Given the description of an element on the screen output the (x, y) to click on. 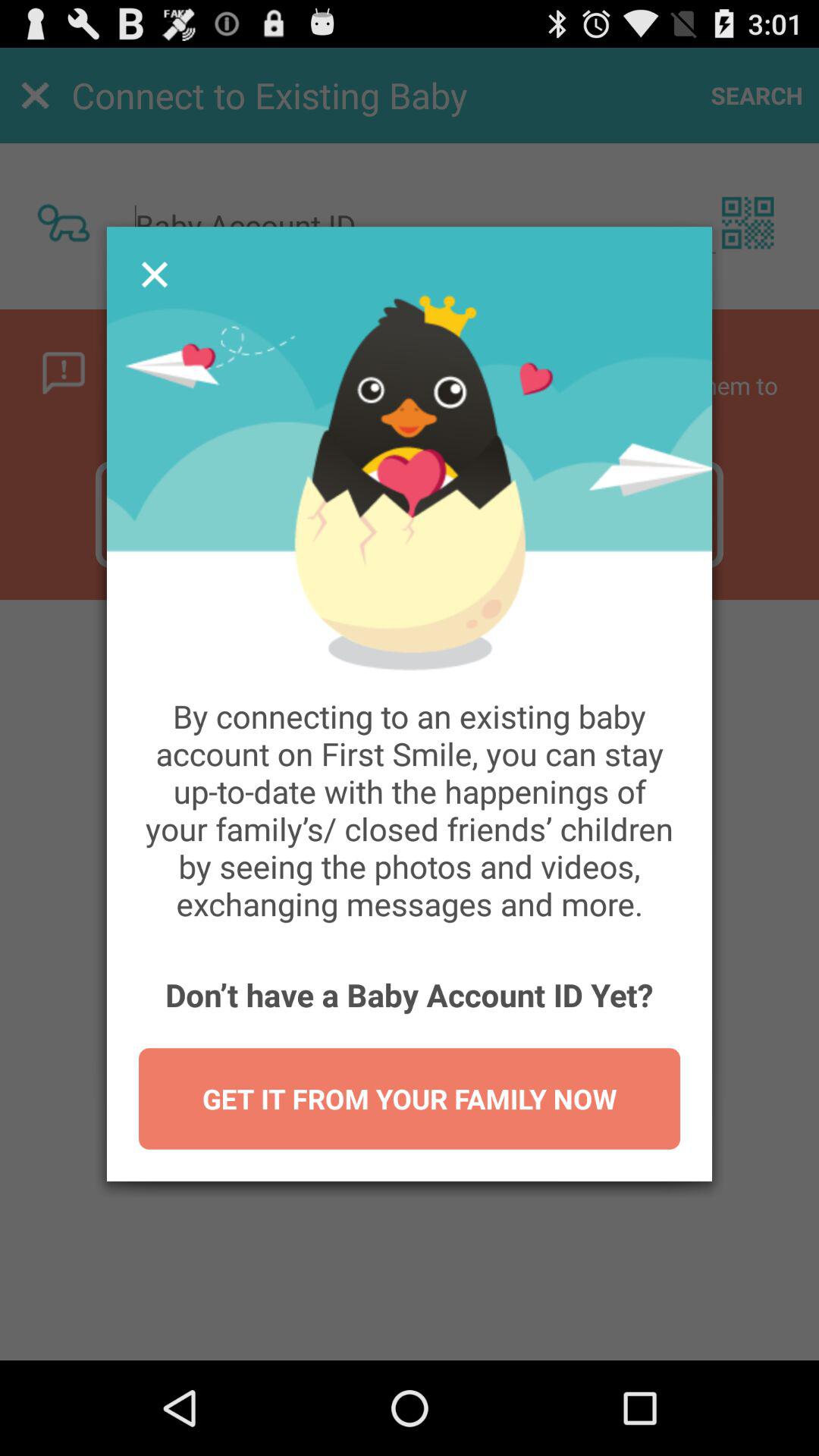
press the item below don t have icon (409, 1098)
